Given the description of an element on the screen output the (x, y) to click on. 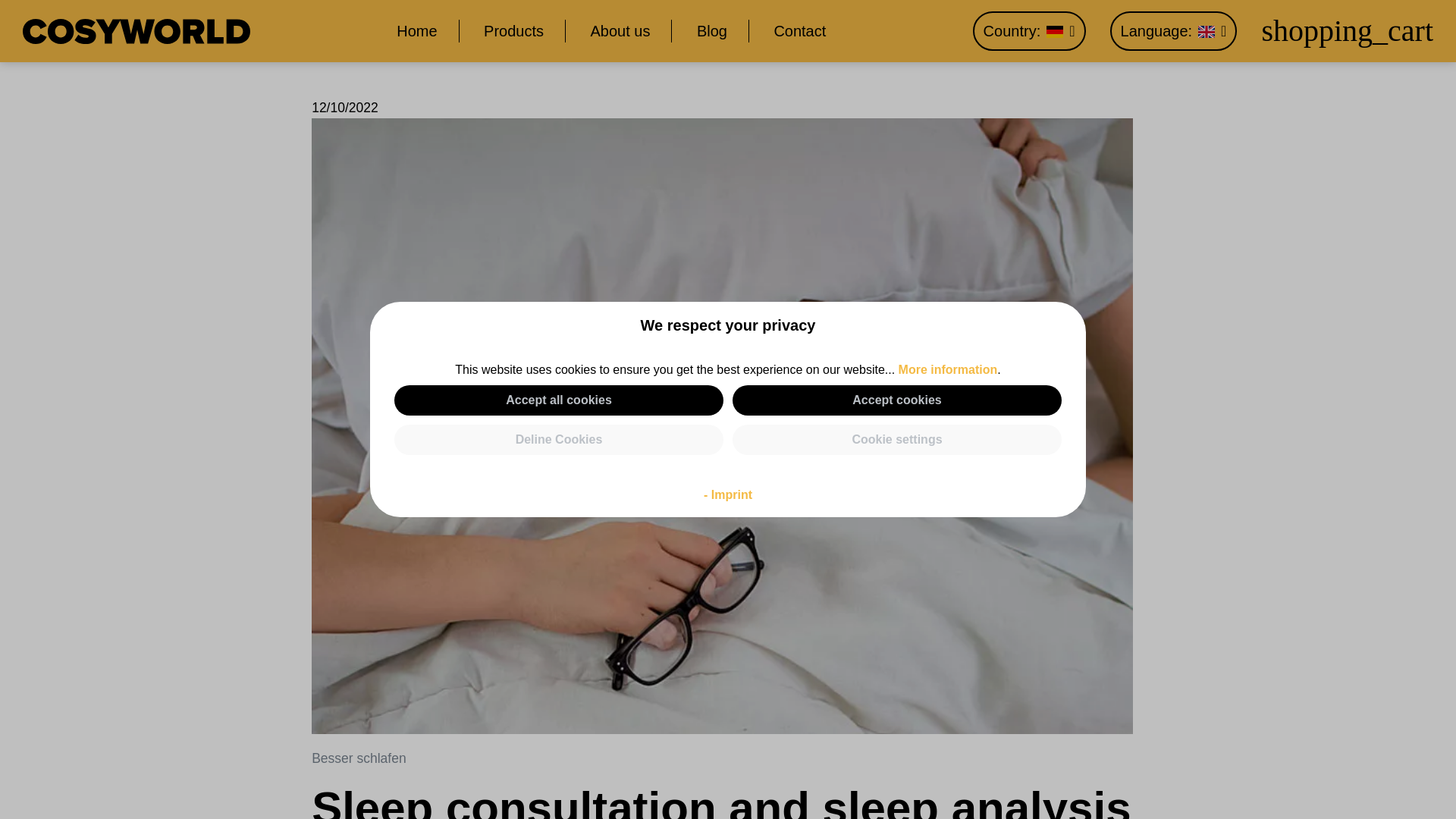
About Us (620, 30)
Home (427, 30)
Country: (1029, 31)
Products (514, 30)
Contact (788, 30)
Blog (712, 30)
Contact (788, 30)
Go to homepage (136, 30)
Home (427, 30)
Language: (1174, 31)
Blog (712, 30)
About us (620, 30)
